Given the description of an element on the screen output the (x, y) to click on. 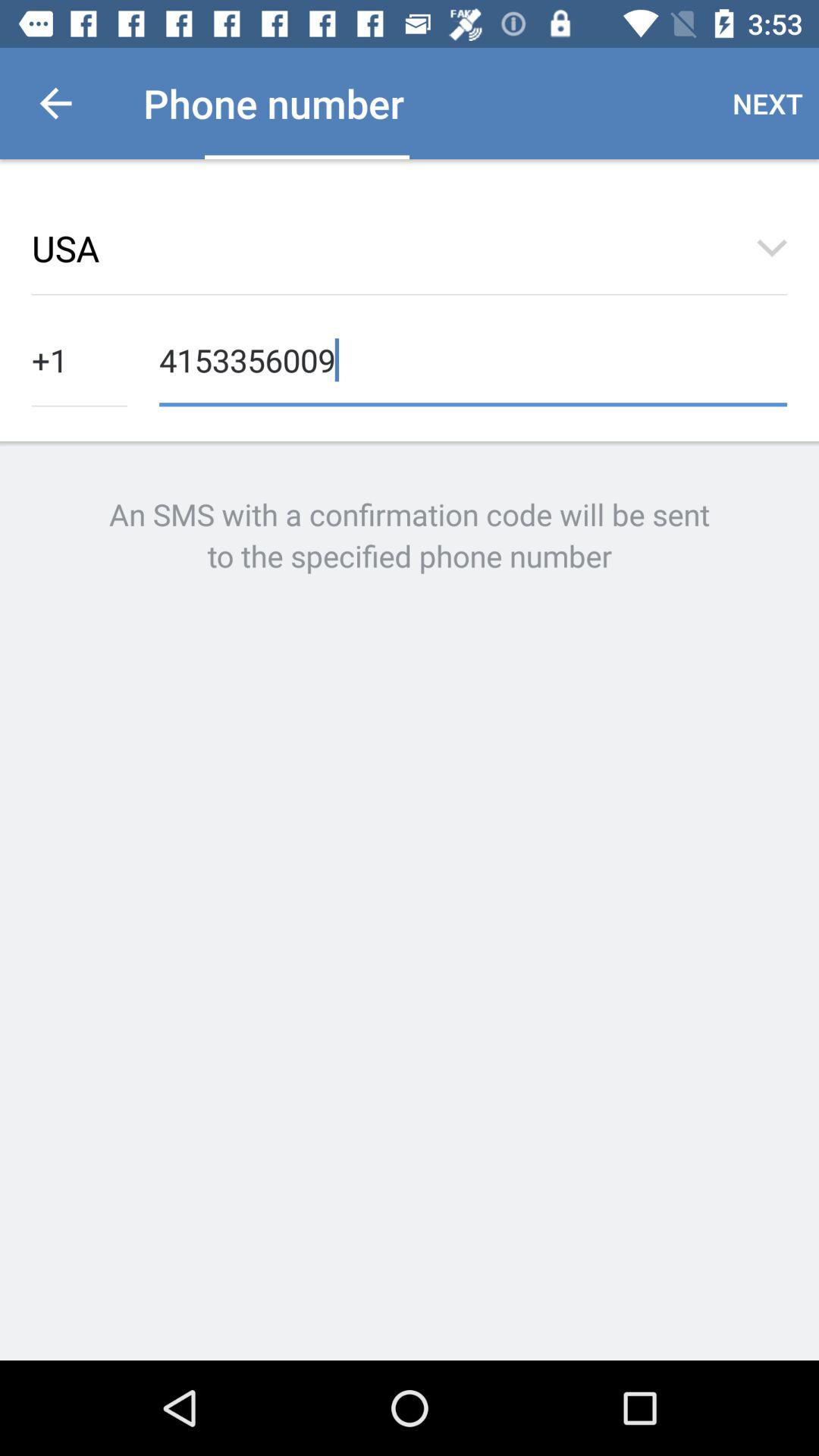
select icon below usa item (473, 358)
